Given the description of an element on the screen output the (x, y) to click on. 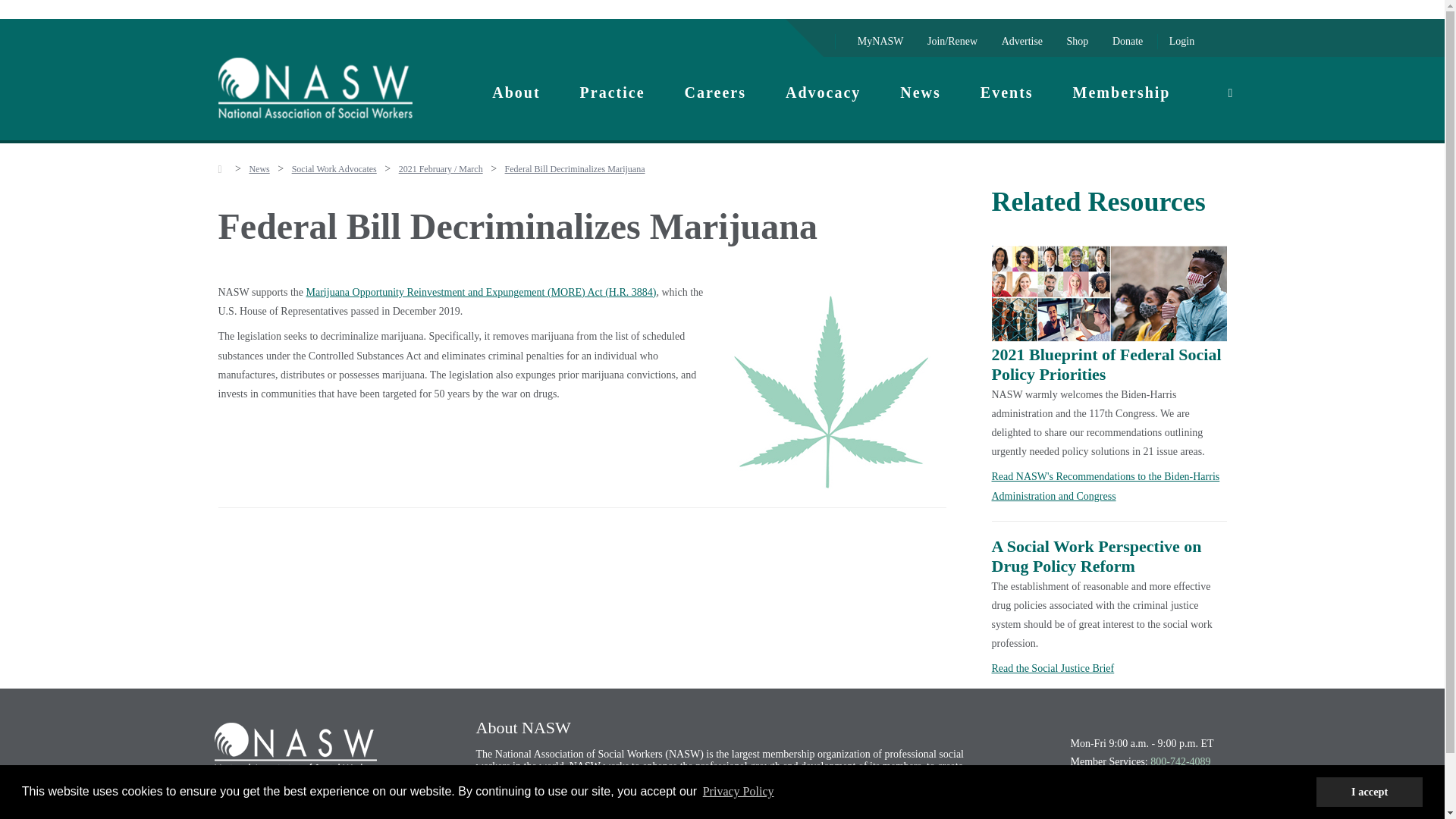
Shop (1078, 41)
Login (1181, 41)
MyNASW (880, 41)
Donate (1127, 41)
Login (1181, 41)
Practice (612, 91)
Advocacy (822, 91)
About (515, 91)
Careers (715, 91)
I accept (1369, 791)
Practice (612, 91)
About (515, 91)
Advertise (1021, 41)
Privacy Policy (738, 791)
